Given the description of an element on the screen output the (x, y) to click on. 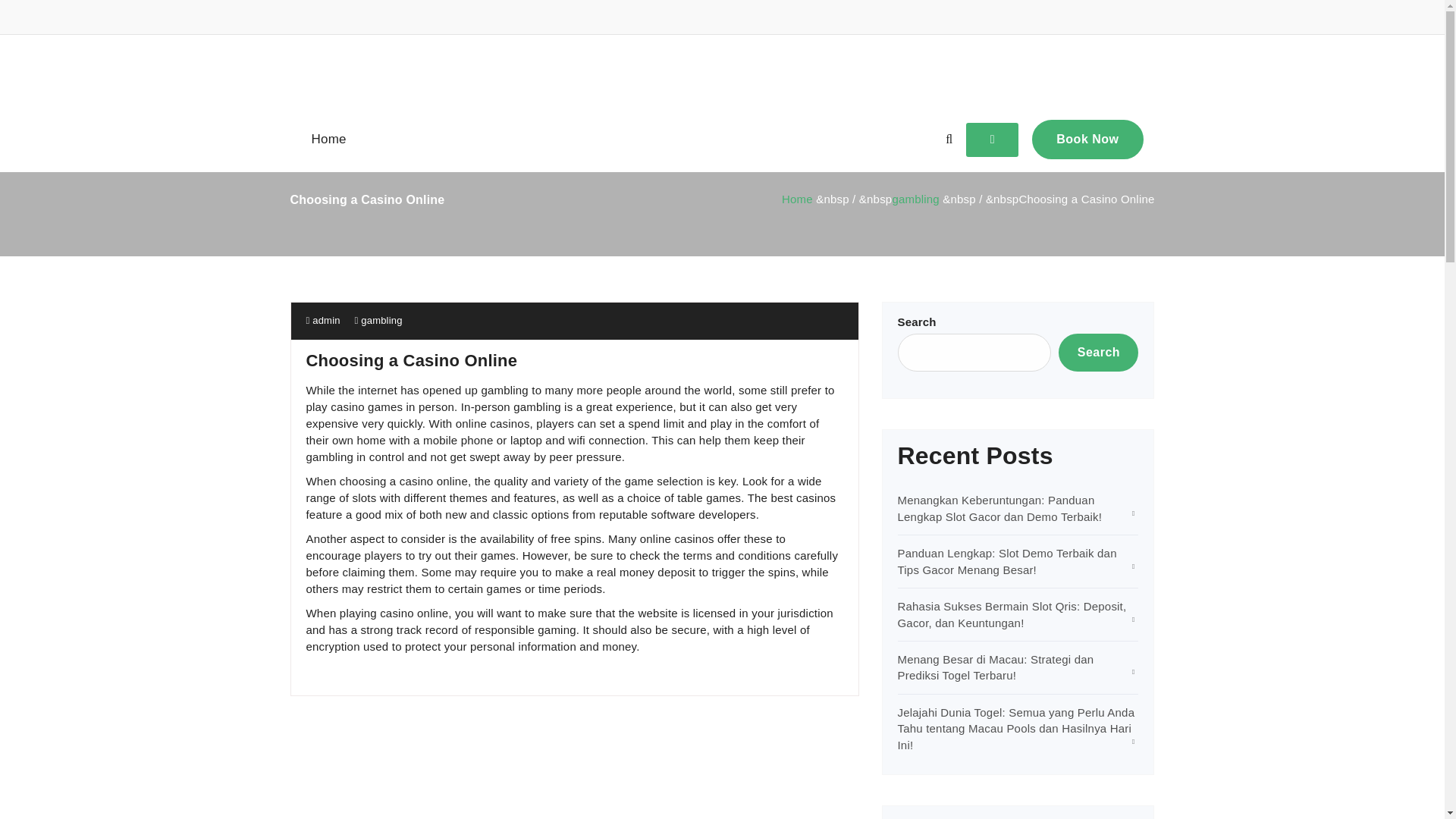
gambling (915, 198)
Search (1098, 352)
Home (796, 198)
Menang Besar di Macau: Strategi dan Prediksi Togel Terbaru! (996, 666)
admin (322, 319)
Book Now (1087, 138)
gambling (381, 319)
